Given the description of an element on the screen output the (x, y) to click on. 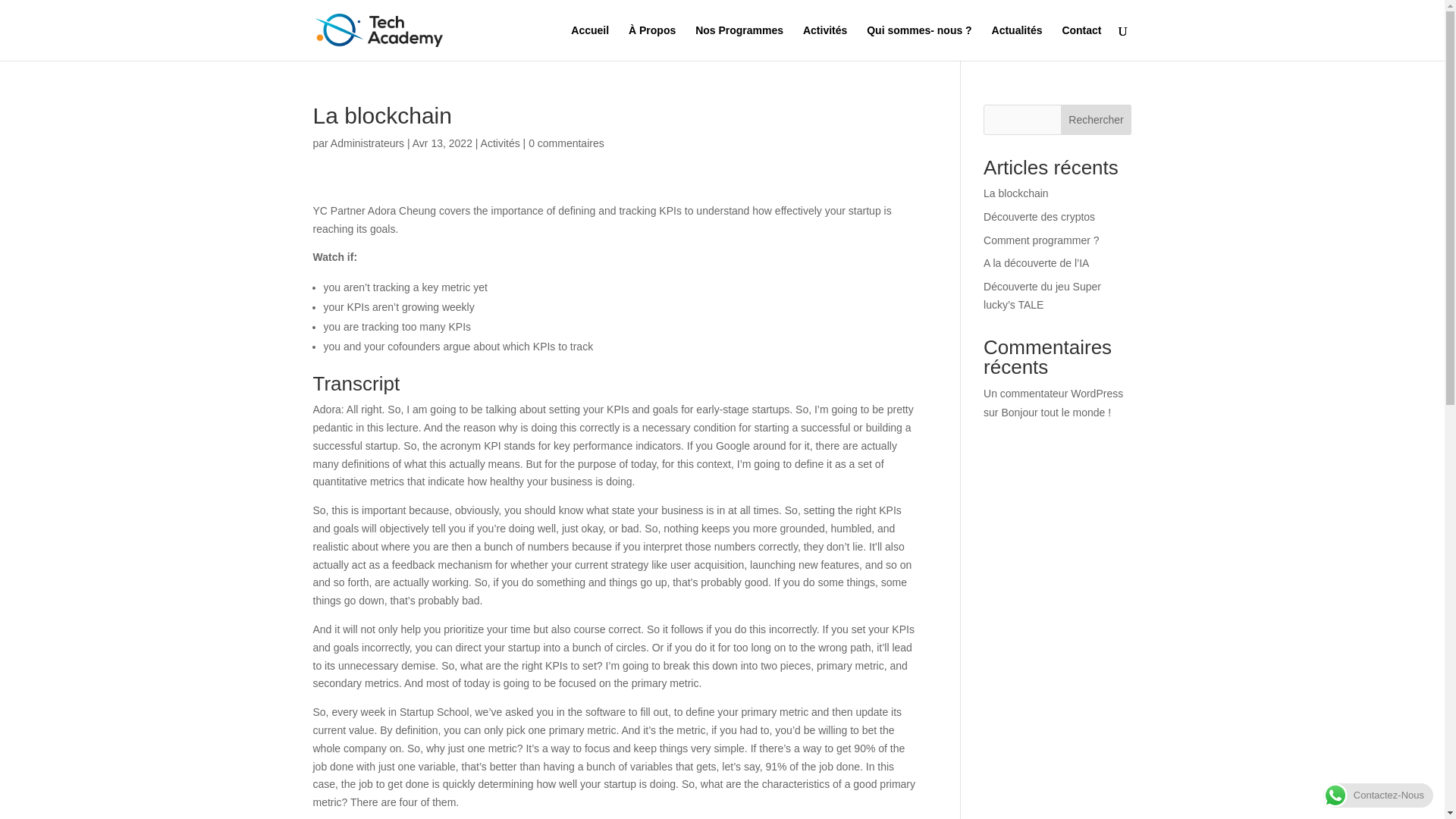
0 commentaires (566, 143)
Accueil (589, 42)
Nos Programmes (739, 42)
Comment programmer ? (1041, 240)
Administrateurs (367, 143)
Contact (1080, 42)
Rechercher (1096, 119)
Qui sommes- nous ? (918, 42)
La blockchain (1016, 193)
Bonjour tout le monde ! (1055, 412)
